Given the description of an element on the screen output the (x, y) to click on. 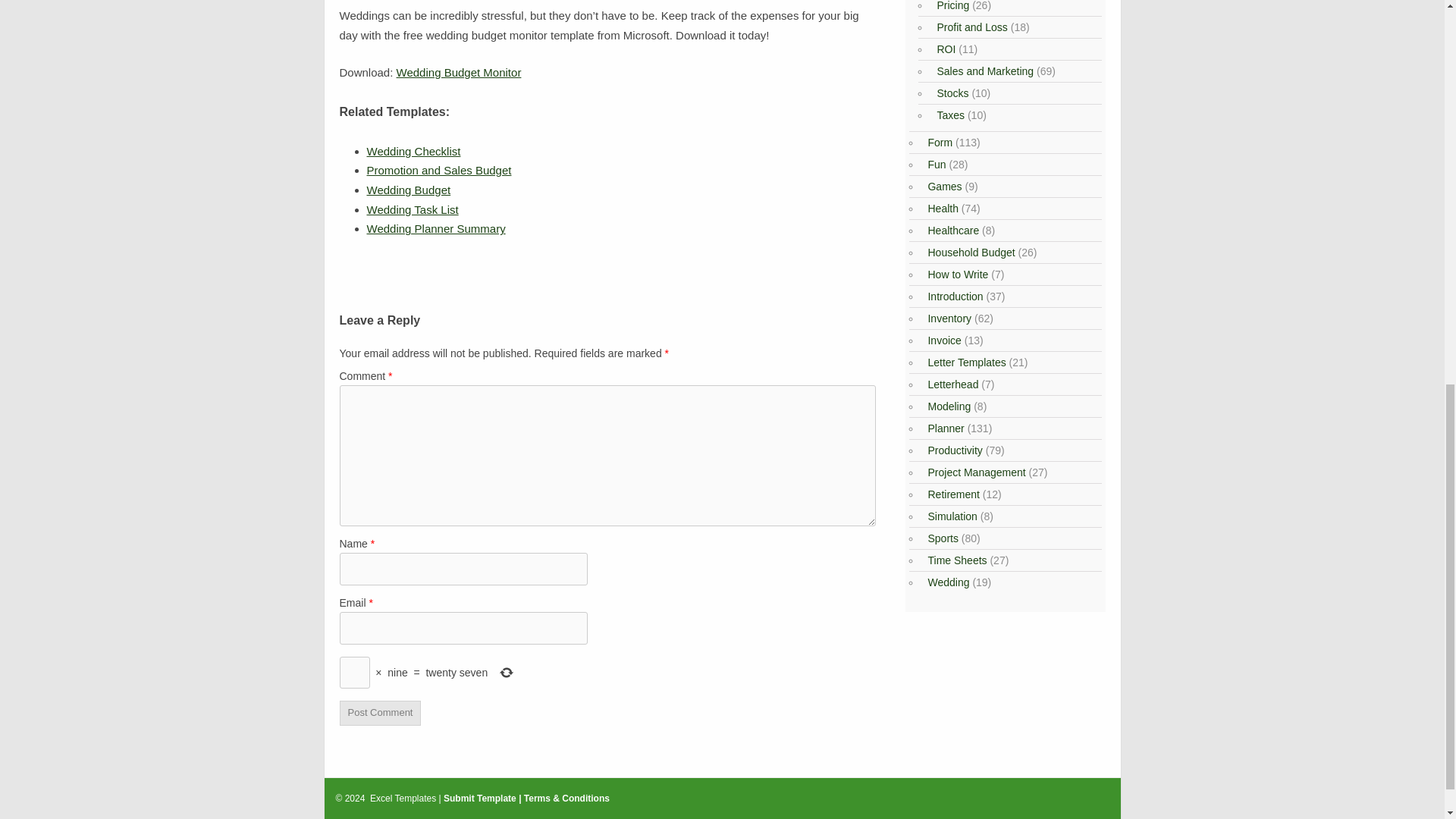
Post Comment (380, 713)
Wedding Task List (412, 209)
November 22, 2008 (412, 209)
Post Comment (380, 713)
Wedding Budget Monitor (458, 72)
Promotion and Sales Budget (439, 169)
December 31, 2008 (413, 151)
November 18, 2008 (408, 189)
October 13, 2007 (439, 169)
Wedding Planner Summary (435, 228)
Wedding Checklist (413, 151)
Wedding Budget (408, 189)
Wedding Budget (458, 72)
March 24, 2016 (435, 228)
